Given the description of an element on the screen output the (x, y) to click on. 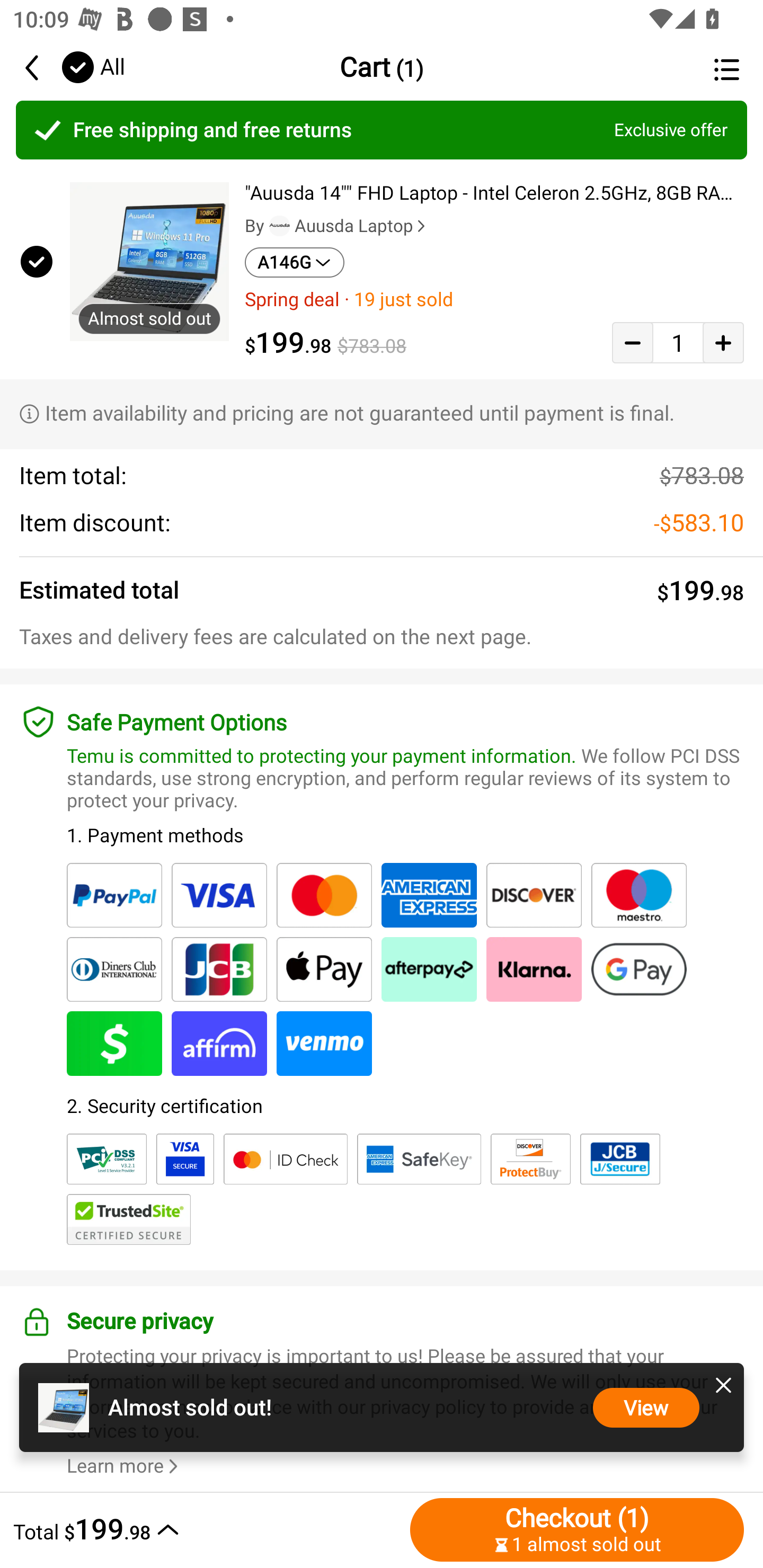
back (41, 67)
Deselect all tick button All (92, 67)
Free shipping and free returns Exclusive offer (381, 129)
Product checkbox checked (35, 260)
By Auusda Laptop (336, 226)
A146G (294, 262)
Spring deal · 19 just sold (493, 299)
Decrease quantity button (632, 342)
1 (677, 342)
Add quantity button (722, 342)
Almost sold out! View (381, 1406)
View (645, 1406)
Learn more (125, 1466)
Total $199.98 (206, 1529)
Checkout Checkout (1) ￼1 almost sold out (576, 1529)
